Given the description of an element on the screen output the (x, y) to click on. 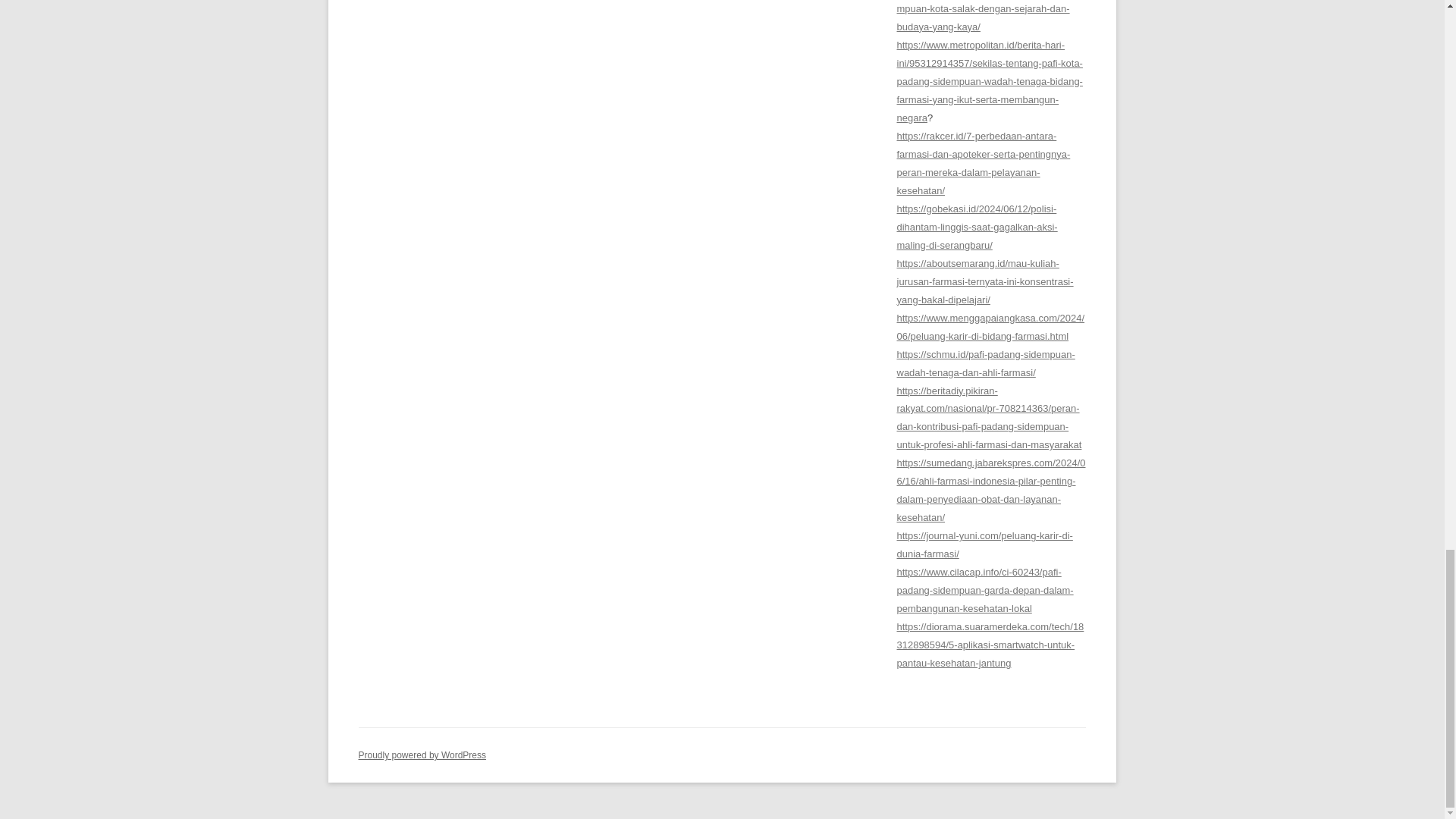
Semantic Personal Publishing Platform (422, 755)
